Given the description of an element on the screen output the (x, y) to click on. 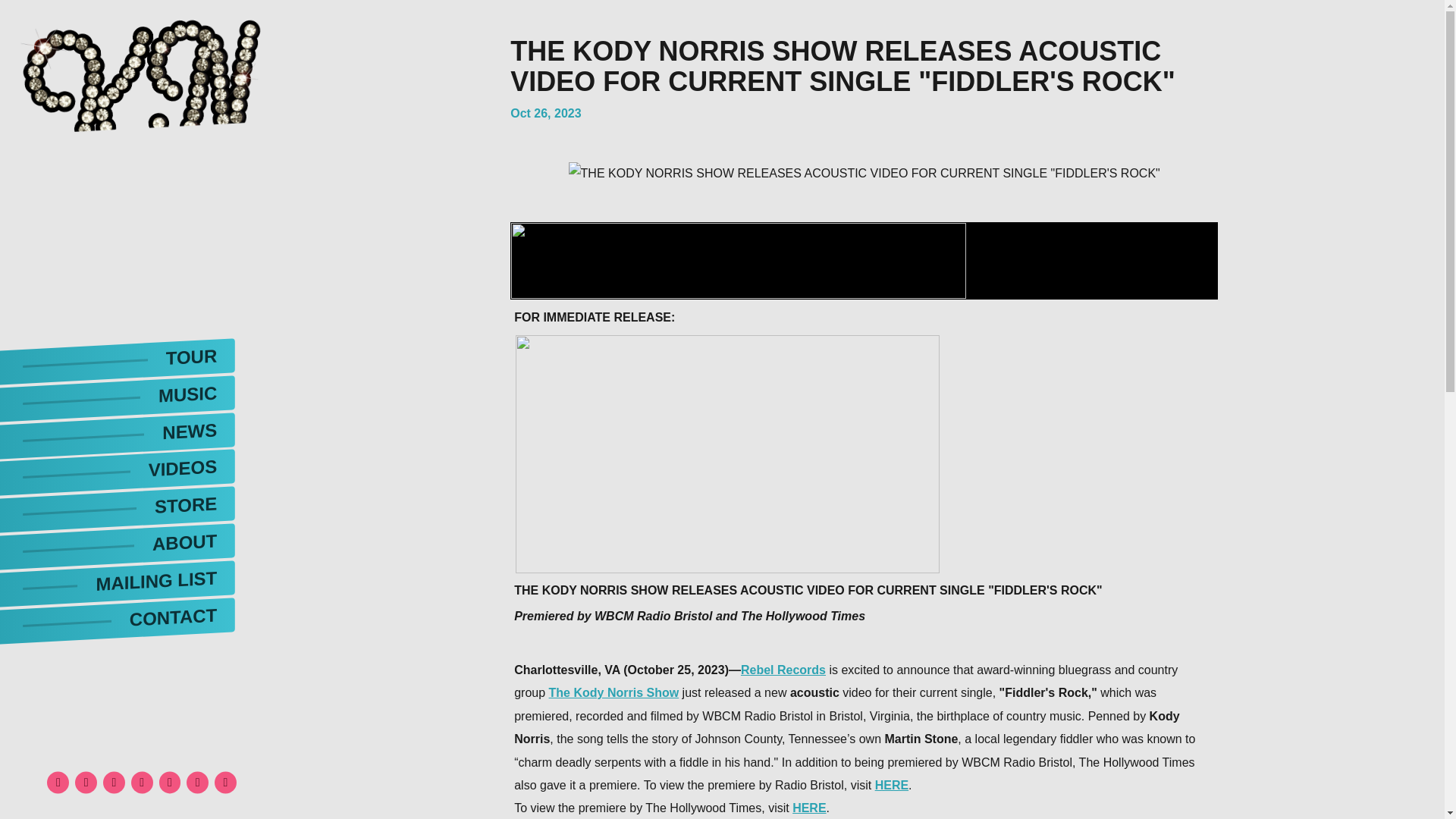
Spotify (197, 782)
TikTok (141, 782)
MAILING LIST (117, 577)
Instagram (114, 782)
YouTube (169, 782)
CONTACT (117, 614)
ABOUT (117, 540)
TOUR (117, 355)
Apple Music (225, 782)
VIDEOS (117, 466)
